Given the description of an element on the screen output the (x, y) to click on. 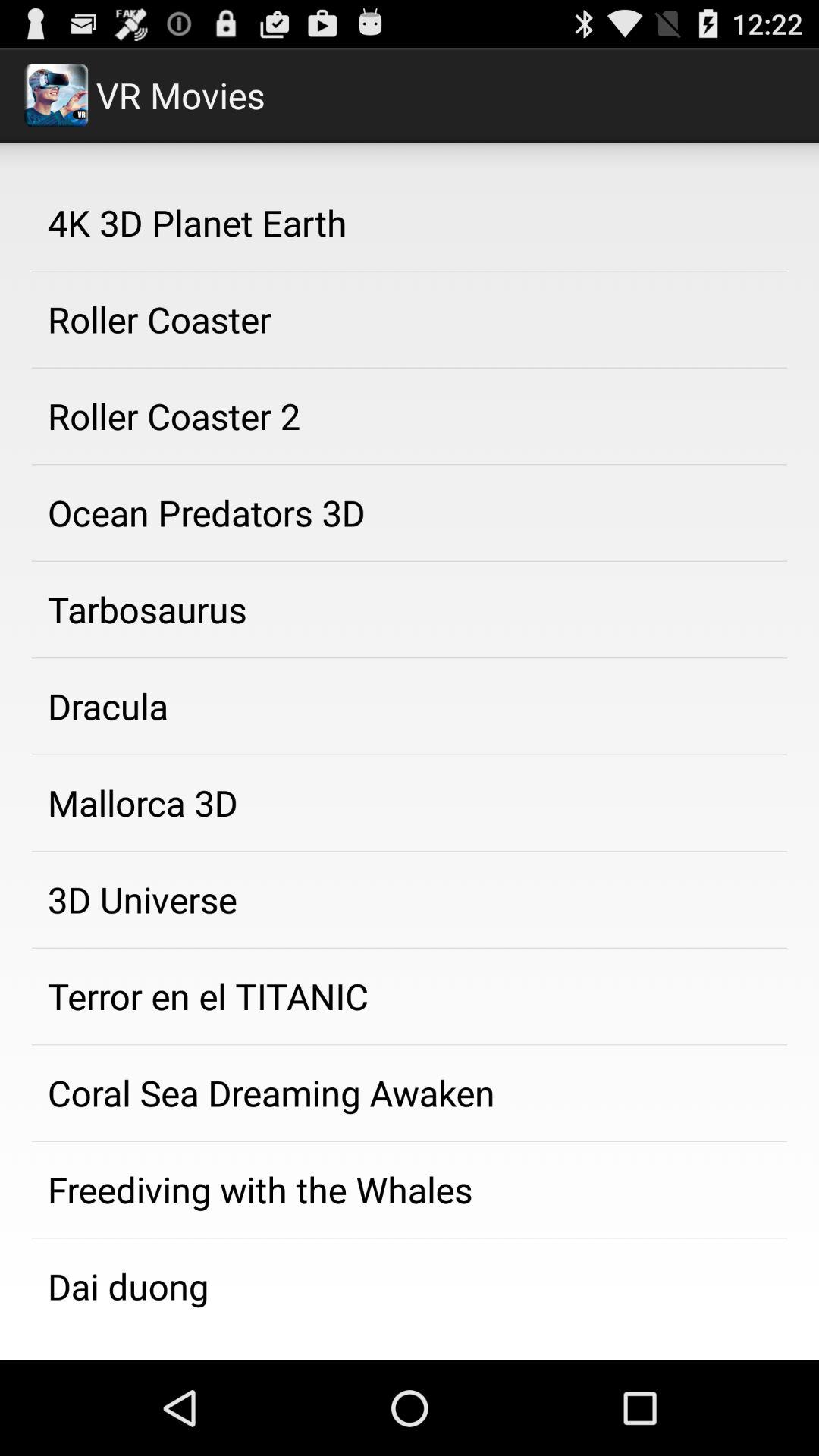
scroll until the 3d universe item (409, 899)
